Given the description of an element on the screen output the (x, y) to click on. 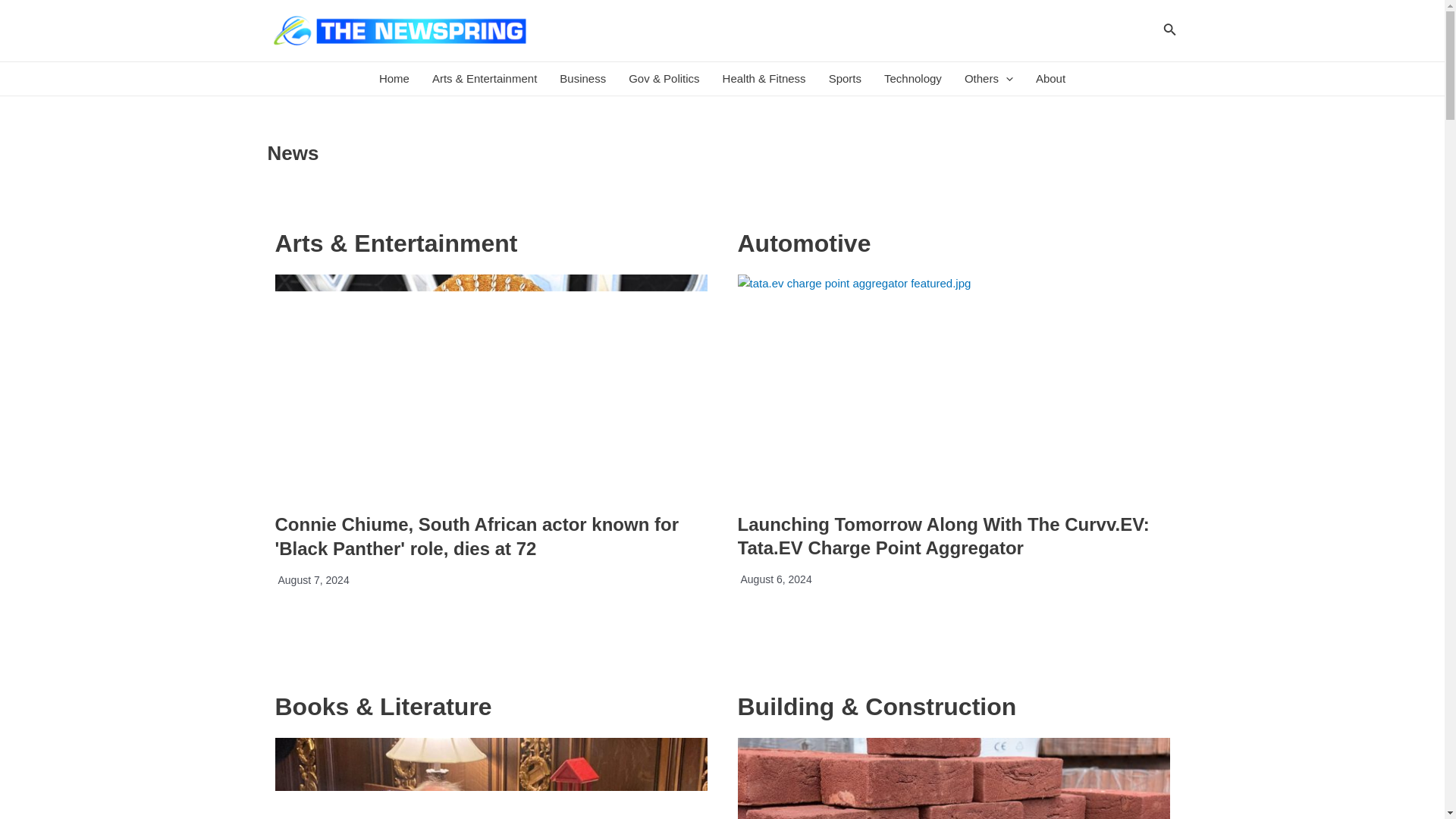
Home (394, 78)
About (1051, 78)
Sports (844, 78)
Business (582, 78)
Others (989, 78)
Technology (912, 78)
